Given the description of an element on the screen output the (x, y) to click on. 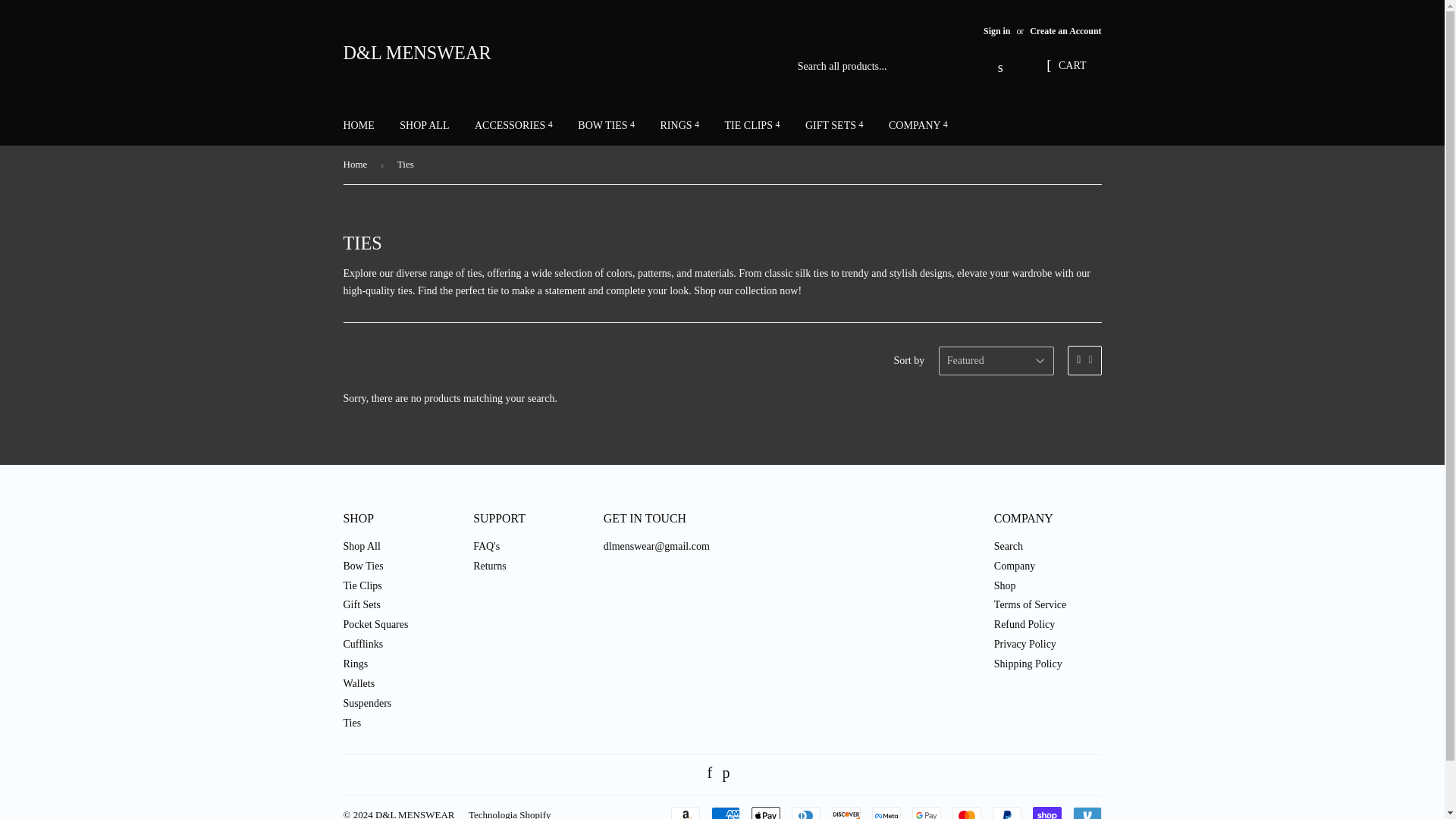
Sign in (997, 30)
Diners Club (806, 812)
American Express (725, 812)
CART (1065, 66)
Apple Pay (764, 812)
Shop Pay (1046, 812)
Create an Account (1064, 30)
PayPal (1005, 812)
Discover (845, 812)
Venmo (1085, 812)
Google Pay (925, 812)
Mastercard (966, 812)
Meta Pay (886, 812)
Search (1000, 67)
Amazon (683, 812)
